Given the description of an element on the screen output the (x, y) to click on. 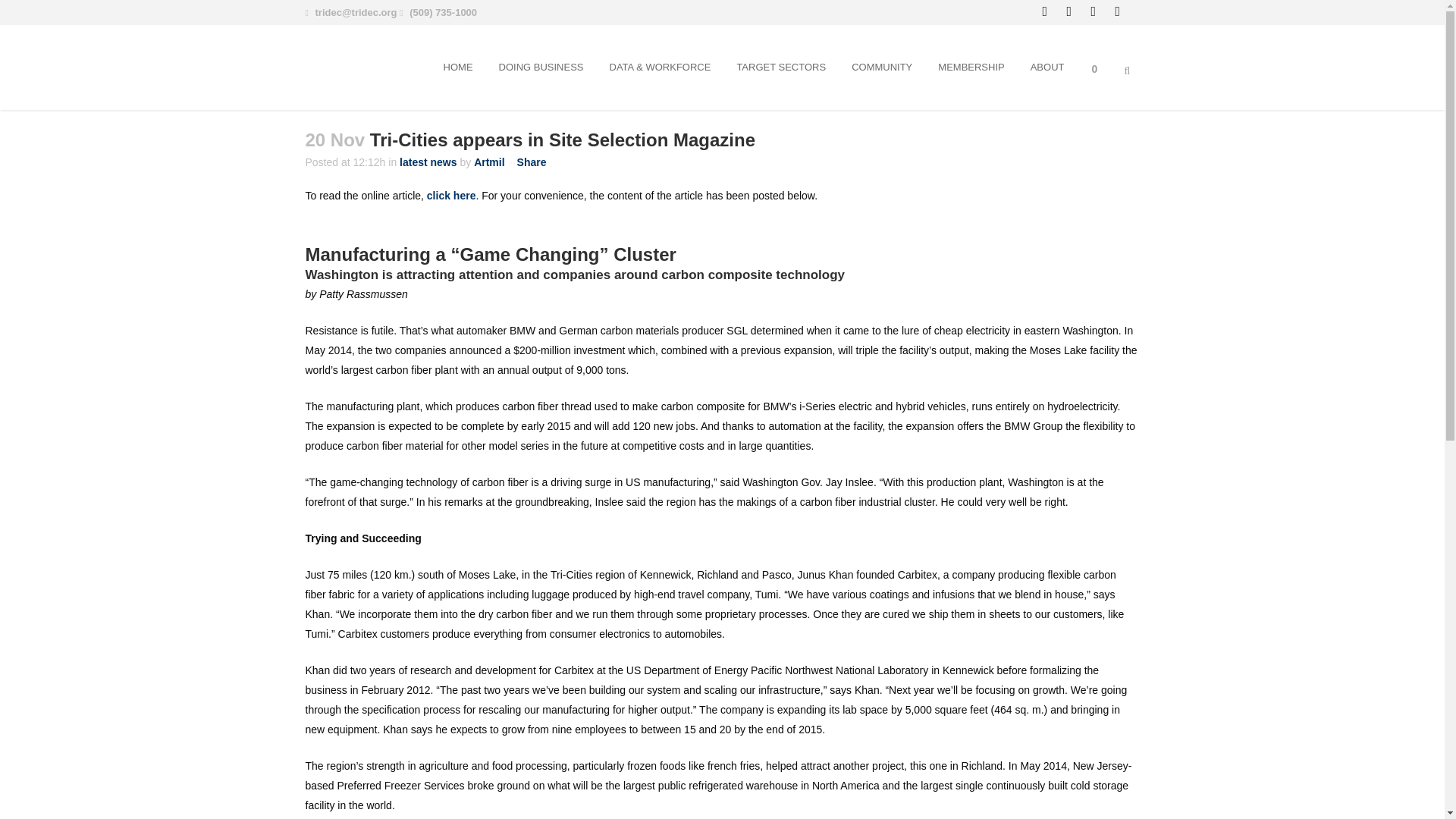
COMMUNITY (881, 67)
TARGET SECTORS (780, 67)
DOING BUSINESS (541, 67)
0 (1099, 67)
